Given the description of an element on the screen output the (x, y) to click on. 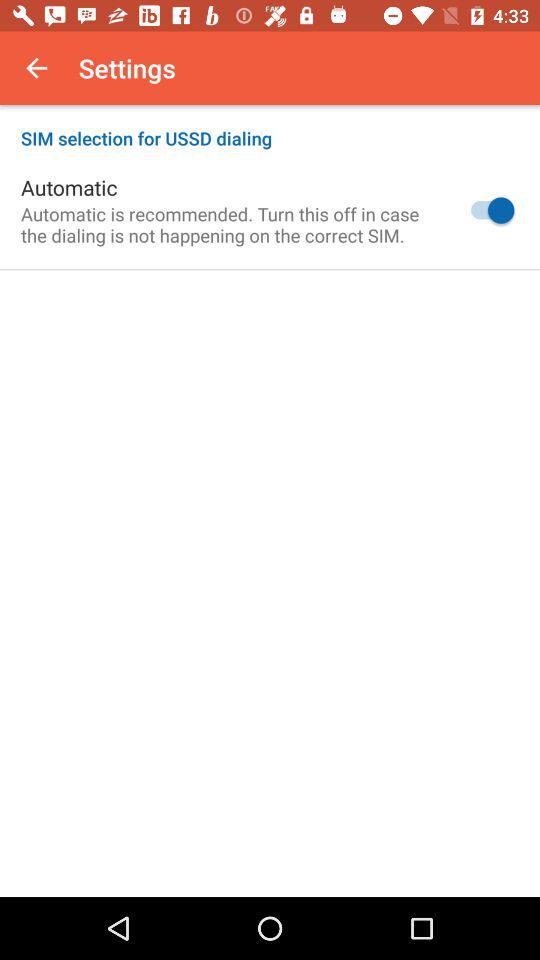
choose the icon above the sim selection for item (36, 68)
